Given the description of an element on the screen output the (x, y) to click on. 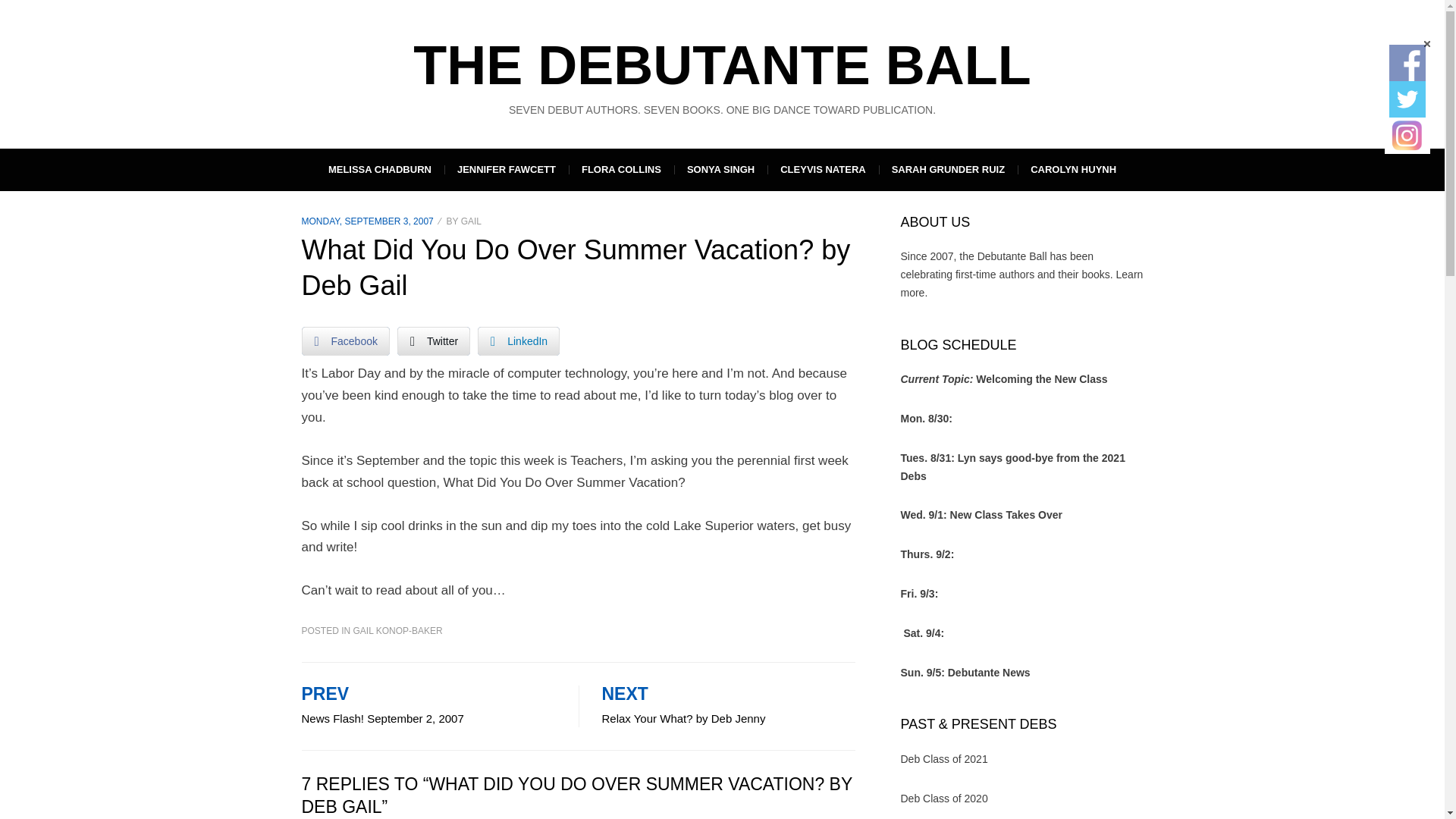
Facebook (345, 340)
GAIL KONOP-BAKER (397, 630)
Deb Class of 2020 (944, 798)
The Debutante Ball (721, 65)
Deb Class of 2021 (944, 758)
LinkedIn (518, 340)
MELISSA CHADBURN (379, 169)
Twitter (729, 706)
Learn more. (433, 340)
SARAH GRUNDER RUIZ (1021, 283)
hide (948, 169)
Visit Our Facebook Page (1426, 43)
FLORA COLLINS (1407, 63)
GAIL (621, 169)
